Given the description of an element on the screen output the (x, y) to click on. 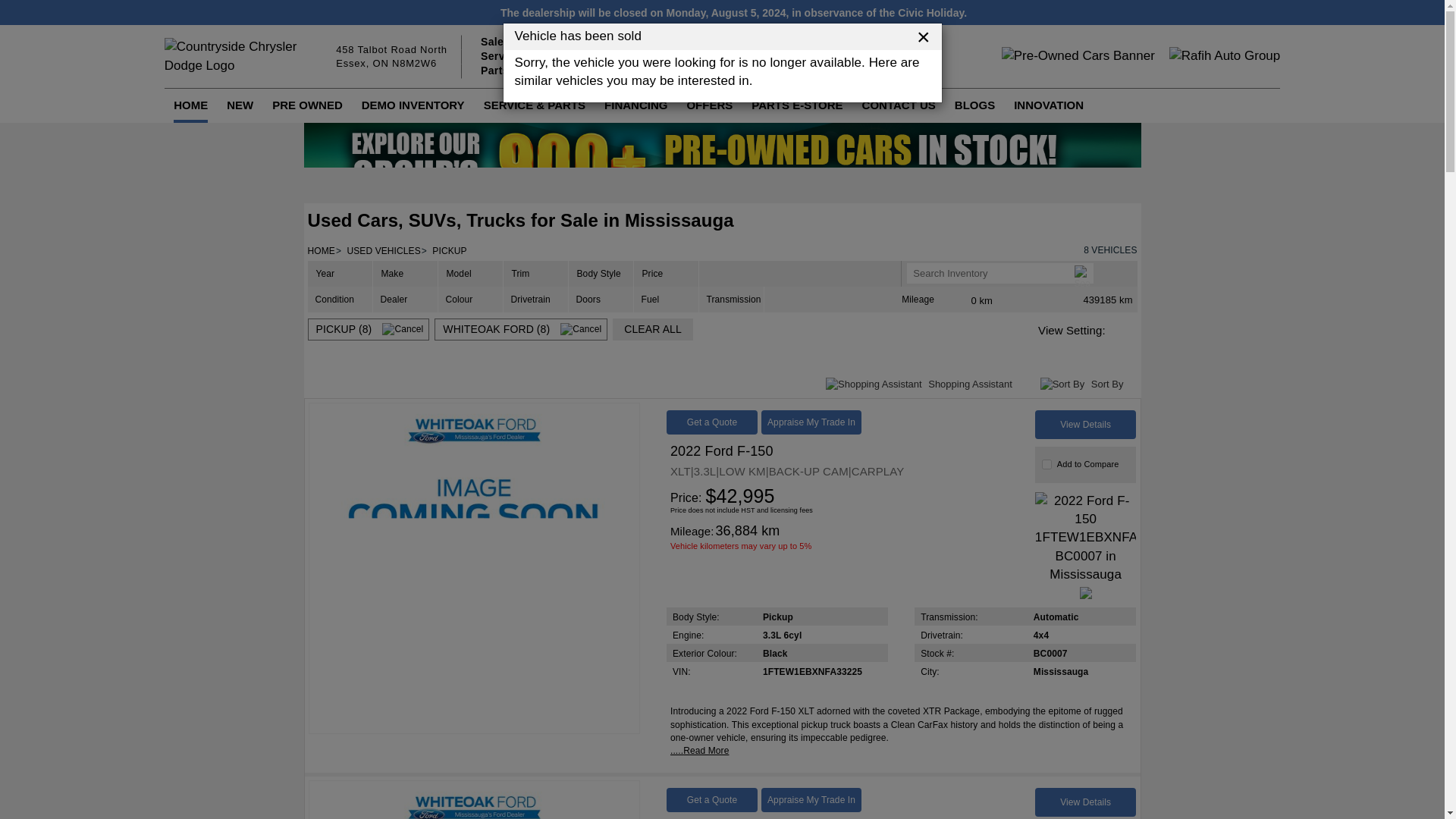
2022 Ford F-150  in Mississauga (474, 568)
2022 RAM 1500 Sport in Mississauga (474, 800)
HOME (391, 55)
Sort By (190, 105)
banner-promotion (1062, 384)
Listing View (721, 160)
Sales 844-741-9075 (1122, 329)
View details 2022 Ford F-150  (532, 42)
Shopping Assistant (1086, 424)
